Given the description of an element on the screen output the (x, y) to click on. 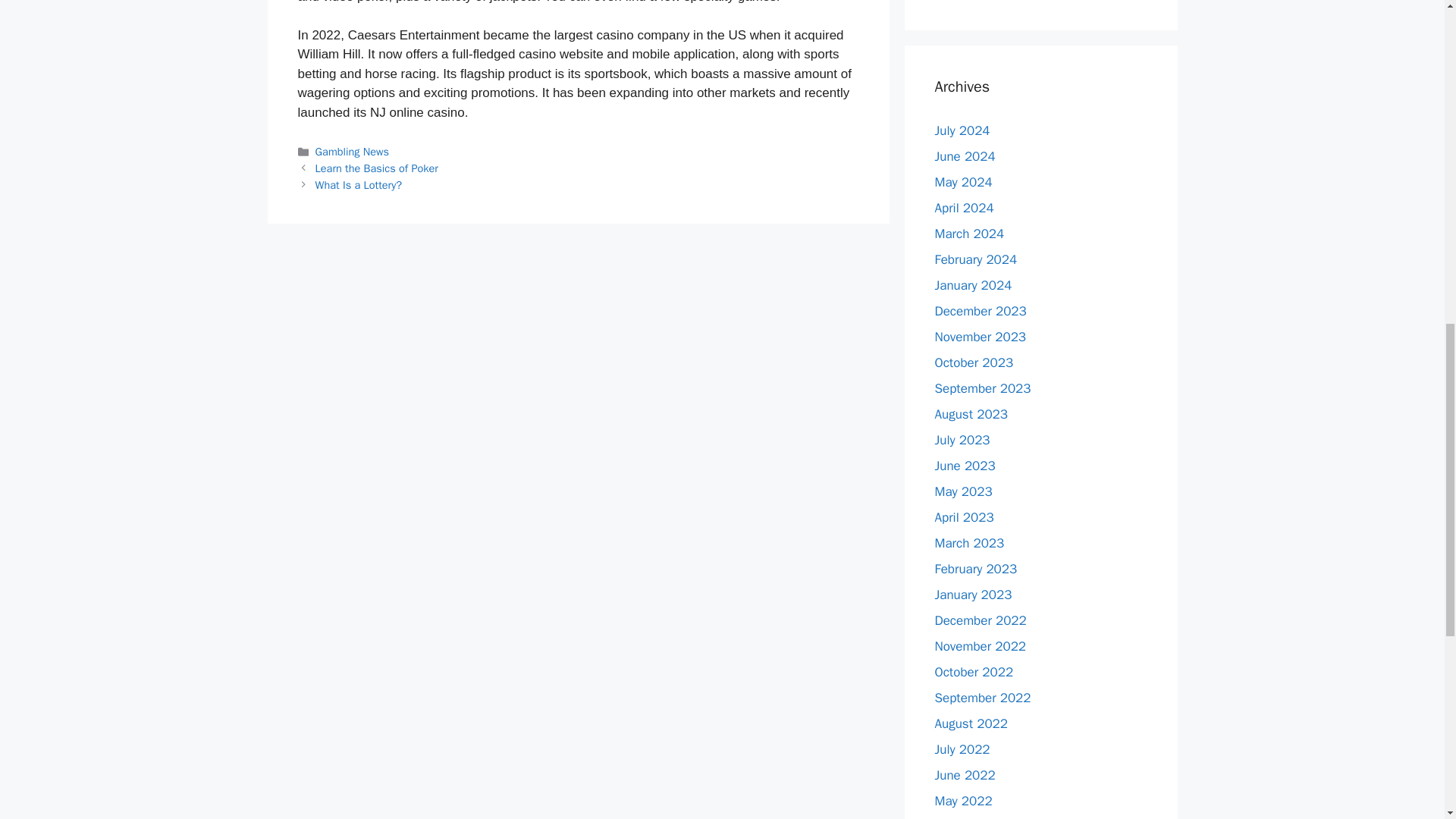
April 2023 (963, 517)
February 2024 (975, 259)
Gambling News (351, 151)
July 2023 (962, 439)
June 2024 (964, 156)
December 2022 (980, 620)
May 2024 (962, 182)
January 2023 (972, 594)
October 2023 (973, 362)
September 2023 (982, 388)
April 2024 (963, 207)
May 2023 (962, 491)
October 2022 (973, 672)
August 2023 (970, 414)
December 2023 (980, 311)
